Given the description of an element on the screen output the (x, y) to click on. 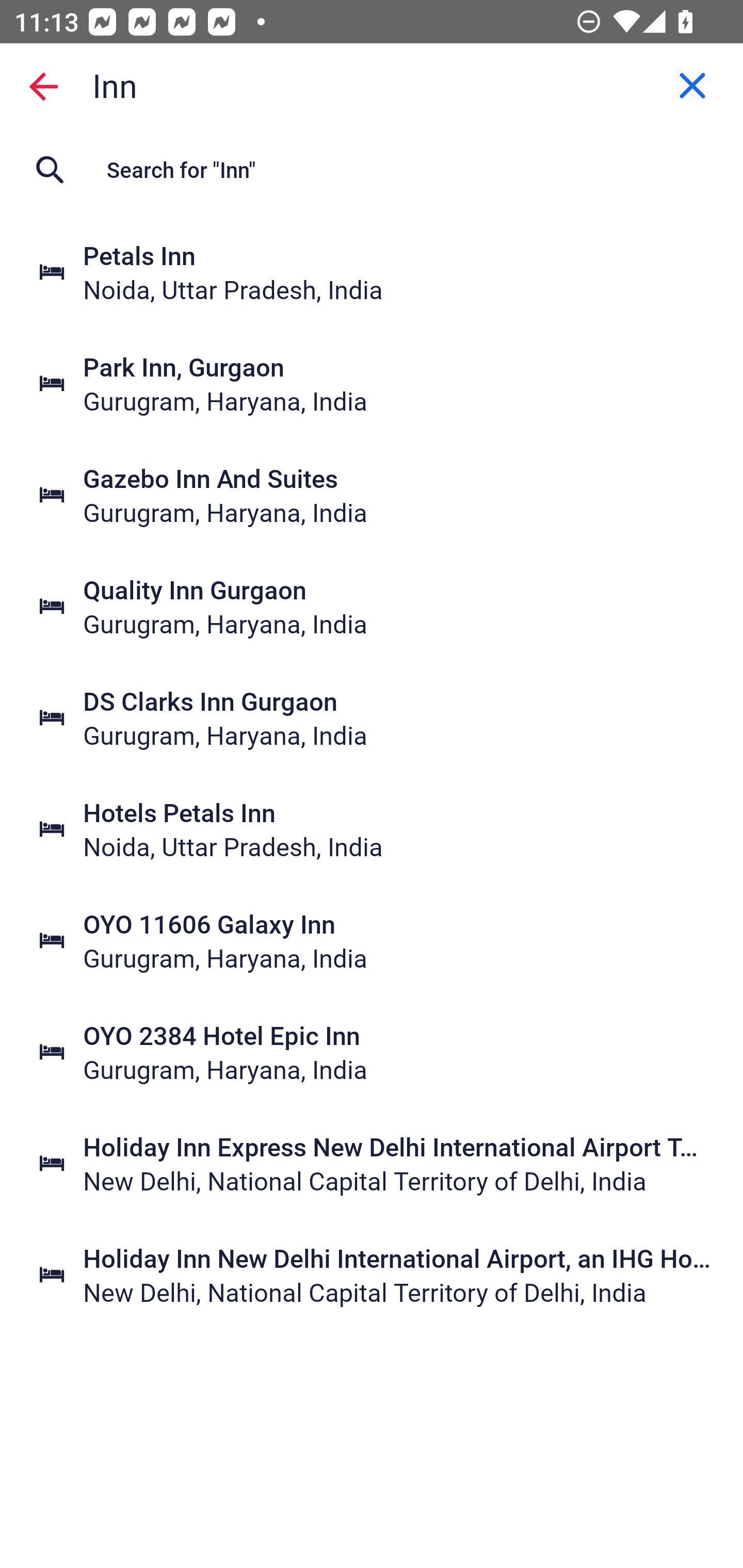
Clear query (692, 85)
Property name, Inn (371, 85)
Back to search screen (43, 86)
Search for "Inn" (371, 170)
